Given the description of an element on the screen output the (x, y) to click on. 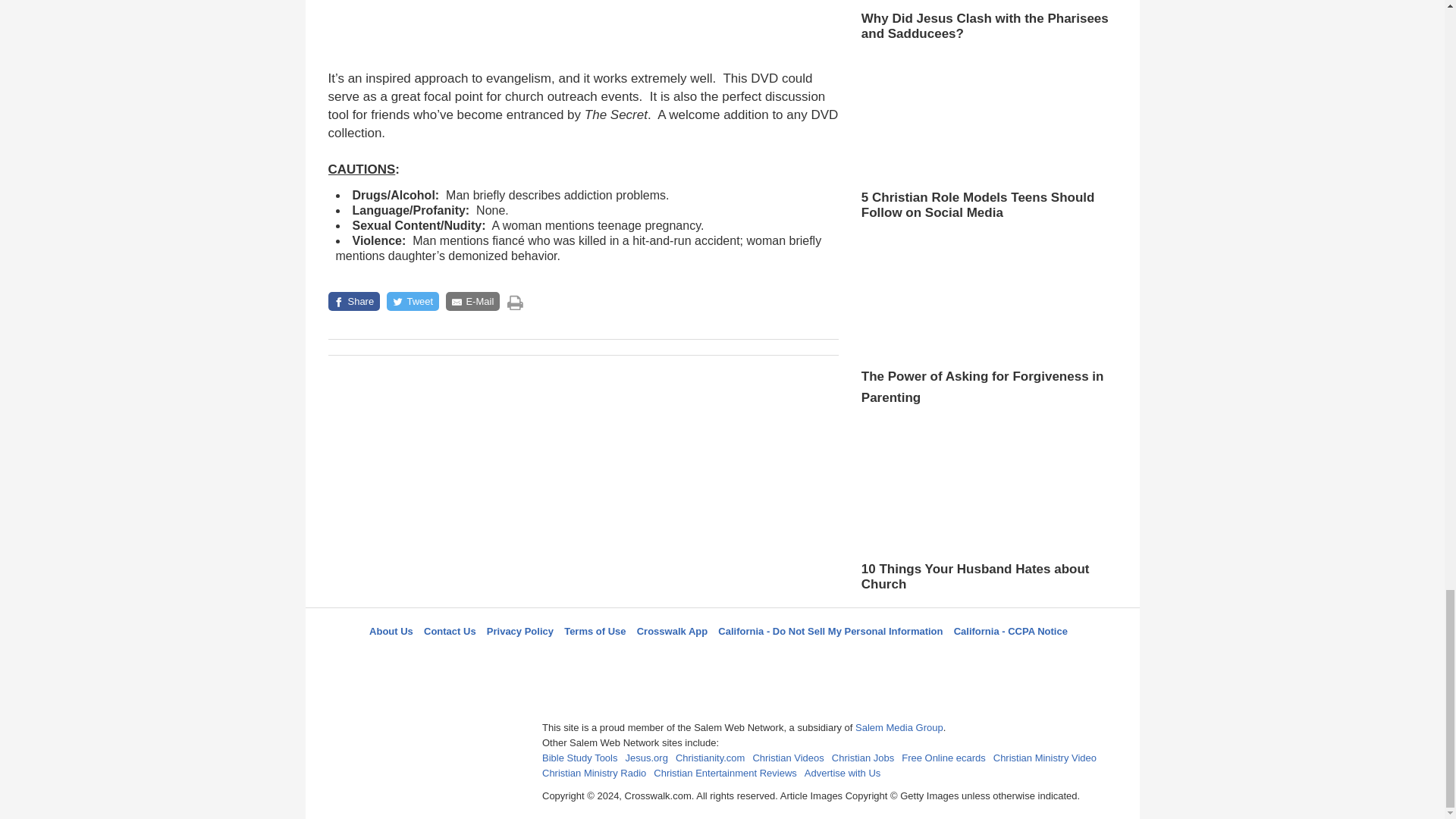
YouTube (795, 658)
Pinterest (757, 658)
Facebook (645, 658)
LifeAudio (719, 658)
Twitter (683, 658)
